Given the description of an element on the screen output the (x, y) to click on. 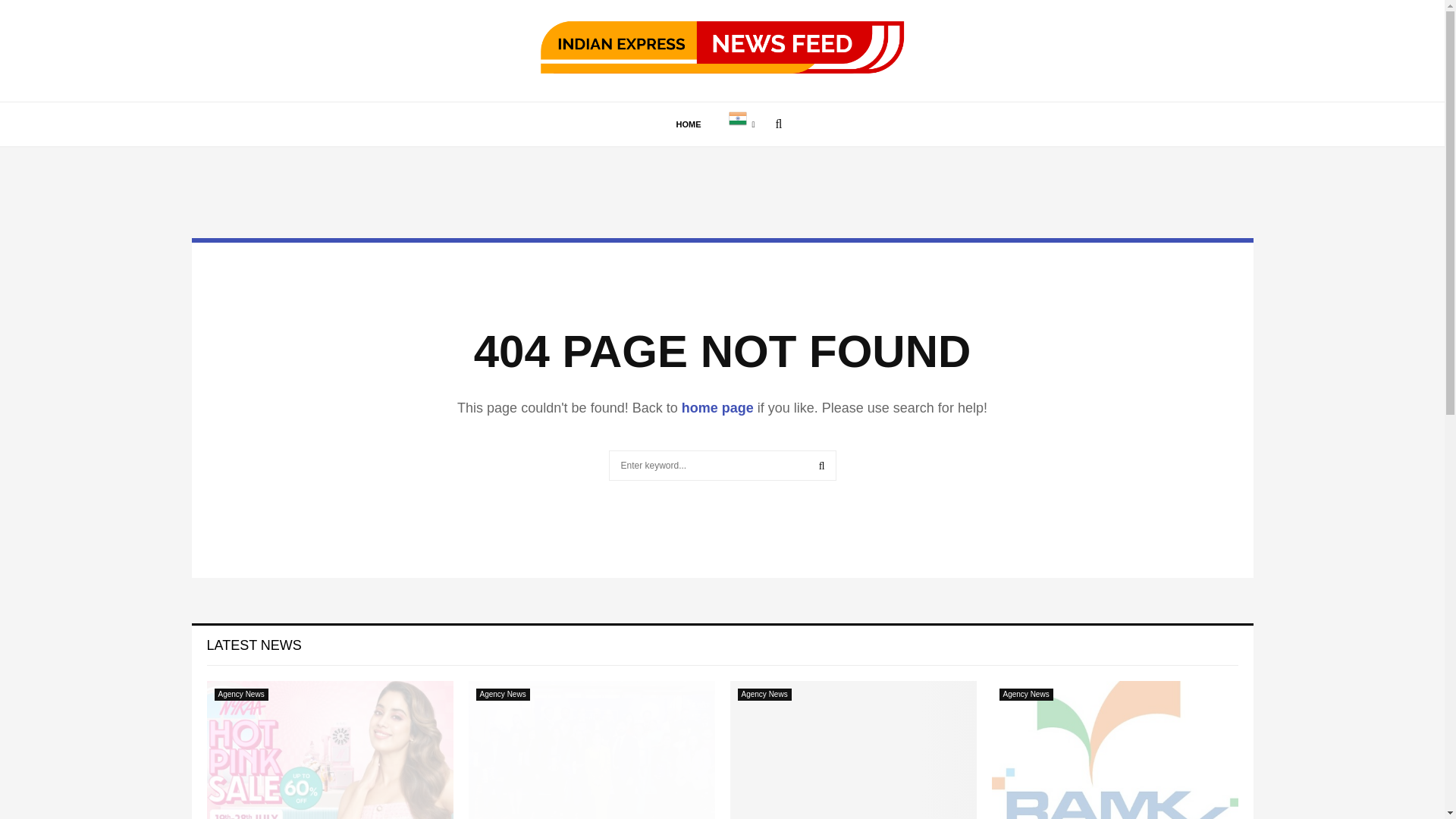
Agency News (502, 694)
Indian Tech Companies Shine at GITEX Africa 2024 in Morocco (852, 749)
Agency News (763, 694)
View all posts in Agency News (1025, 694)
Latest News (253, 645)
SEARCH (821, 465)
HOME (688, 124)
View all posts in Agency News (502, 694)
View all posts in Agency News (240, 694)
Agency News (1025, 694)
home page (717, 407)
View all posts in Agency News (763, 694)
Hindi (741, 124)
Agency News (240, 694)
